Given the description of an element on the screen output the (x, y) to click on. 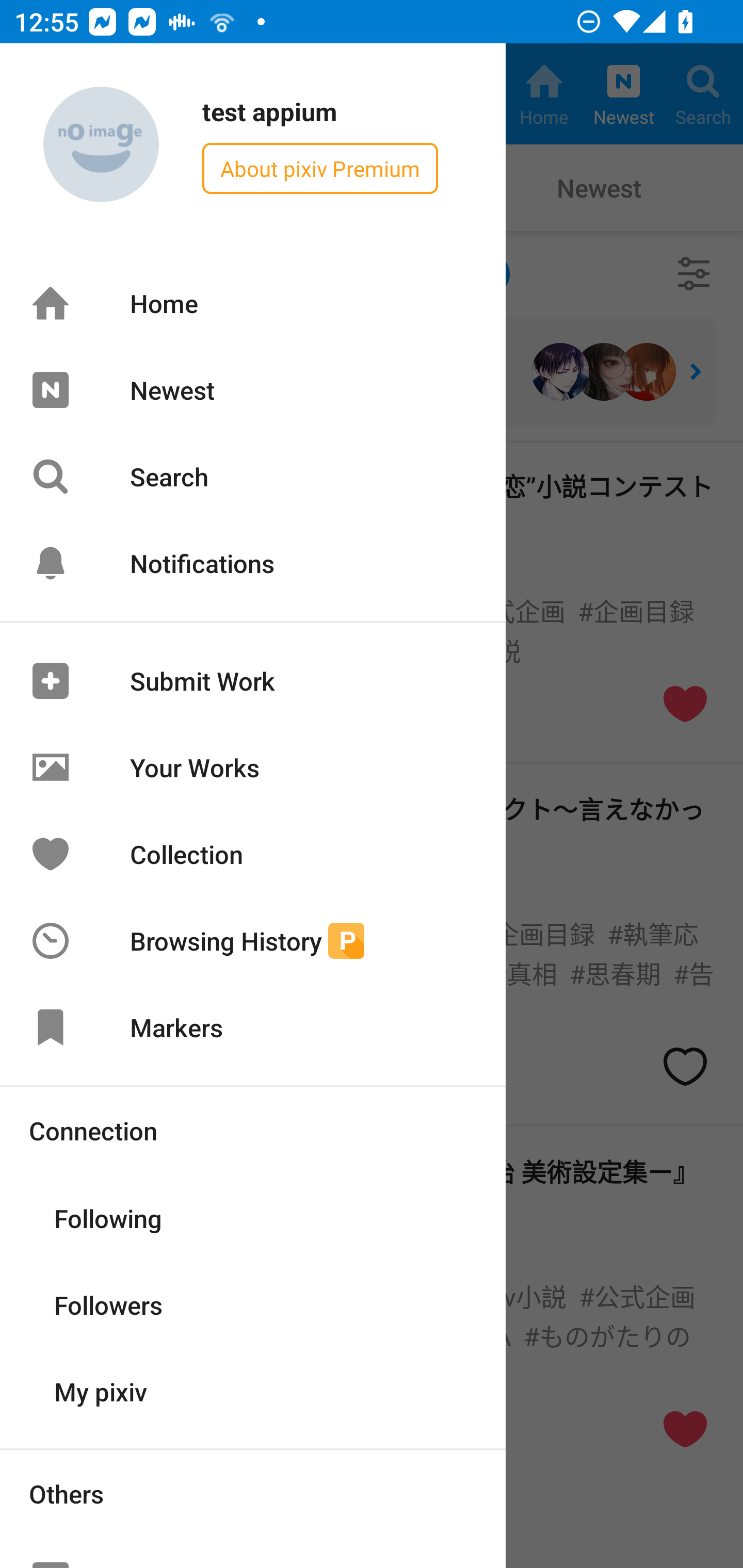
test appium About pixiv Premium (252, 144)
About pixiv Premium (320, 168)
Home (252, 303)
Newest (252, 389)
Search (252, 476)
Notifications (252, 563)
Submit Work (252, 681)
Your Works (252, 767)
Collection (252, 853)
Browsing History [P] (252, 940)
Markers (252, 1027)
　Following (252, 1217)
　Followers (252, 1303)
　My pixiv (252, 1389)
